Given the description of an element on the screen output the (x, y) to click on. 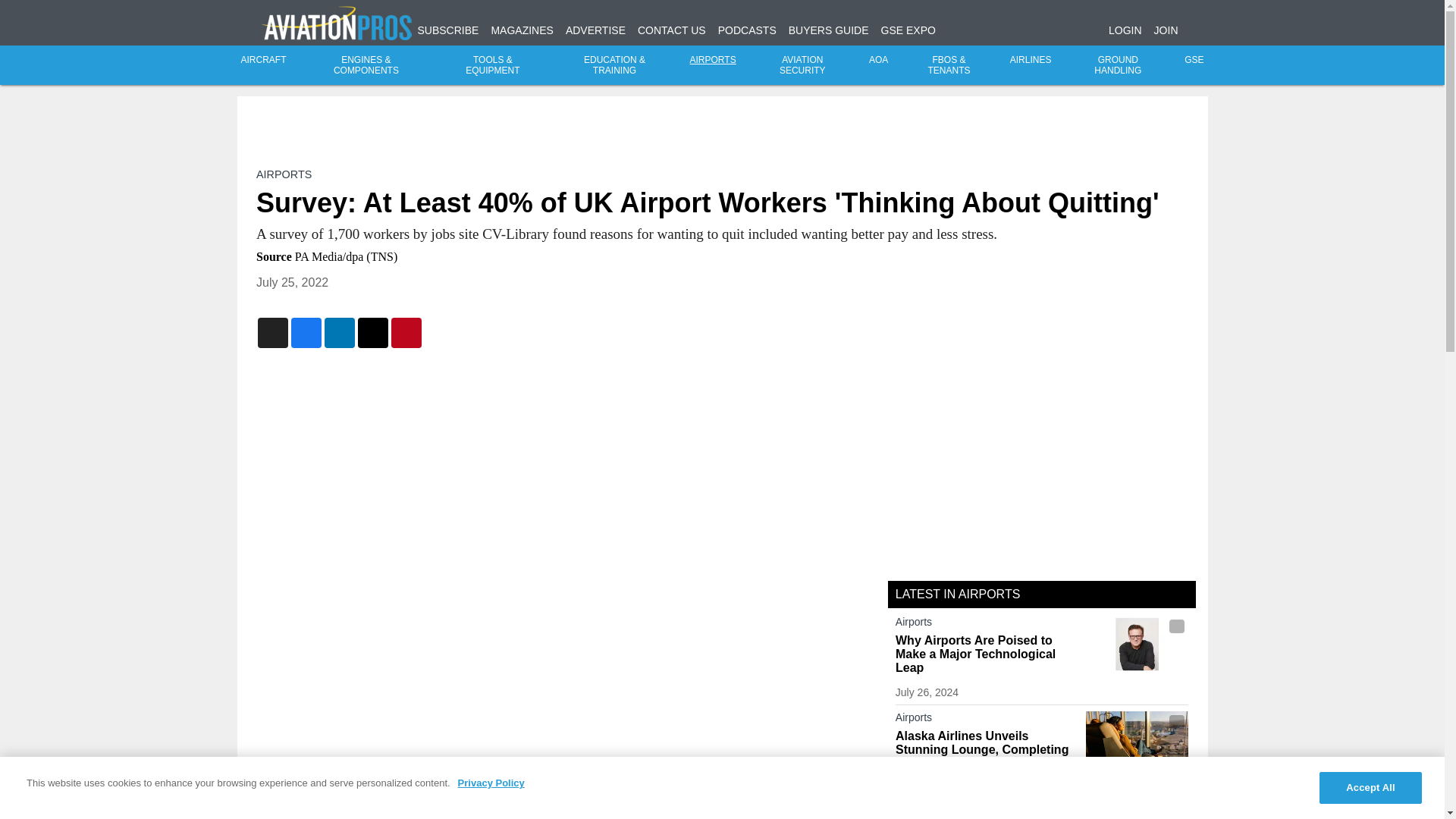
CONTACT US (671, 30)
BUYERS GUIDE (829, 30)
GSE EXPO (908, 30)
PODCASTS (746, 30)
AIRPORTS (713, 59)
AIRCRAFT (263, 59)
AIRLINES (1030, 59)
AOA (878, 59)
LOGIN (1124, 30)
GROUND HANDLING (1117, 65)
ADVERTISE (596, 30)
MAGAZINES (521, 30)
GSE (1194, 59)
JOIN (1165, 30)
AVIATION SECURITY (801, 65)
